Given the description of an element on the screen output the (x, y) to click on. 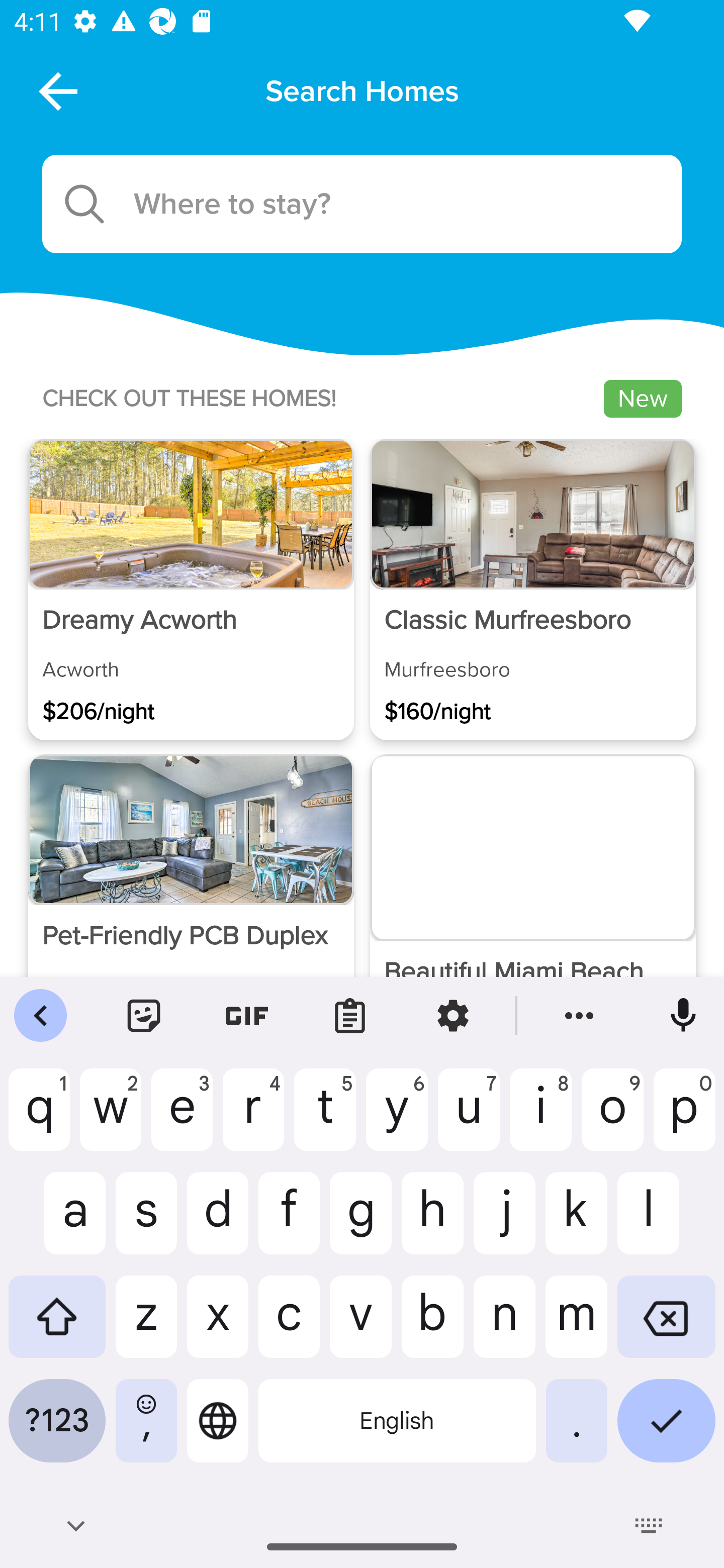
Icon close screen (55, 90)
Search icon Where to stay? (361, 204)
